Given the description of an element on the screen output the (x, y) to click on. 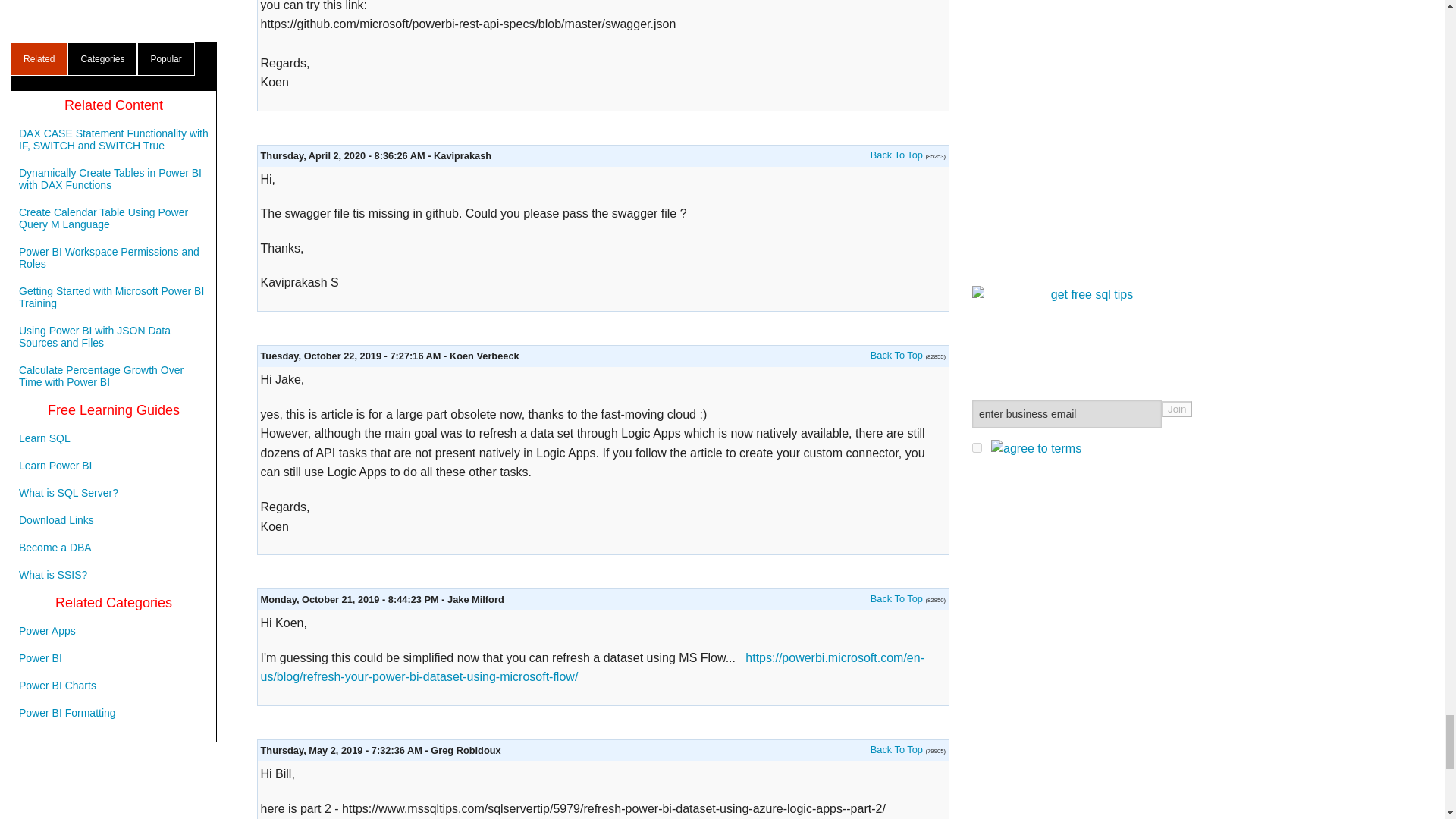
read the tip (896, 154)
read the tip (896, 355)
read the tip (896, 598)
